Given the description of an element on the screen output the (x, y) to click on. 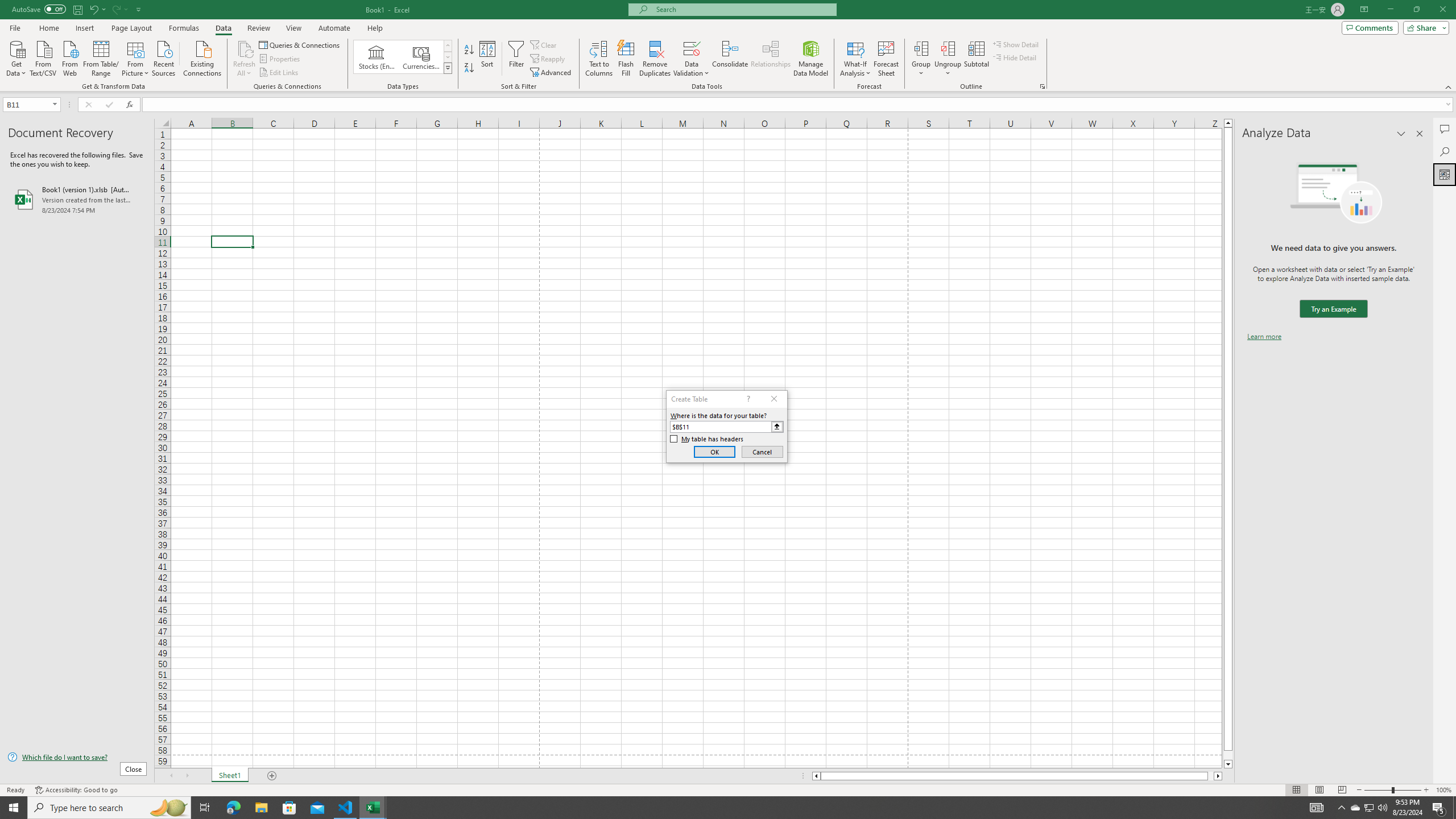
AutomationID: ConvertToLinkedEntity (403, 56)
Manage Data Model (810, 58)
From Table/Range (100, 57)
Sort... (487, 58)
Sort A to Z (469, 49)
Close pane (1419, 133)
Analyze Data (1444, 173)
Show Detail (1016, 44)
Search (1444, 151)
Forecast Sheet (885, 58)
